Given the description of an element on the screen output the (x, y) to click on. 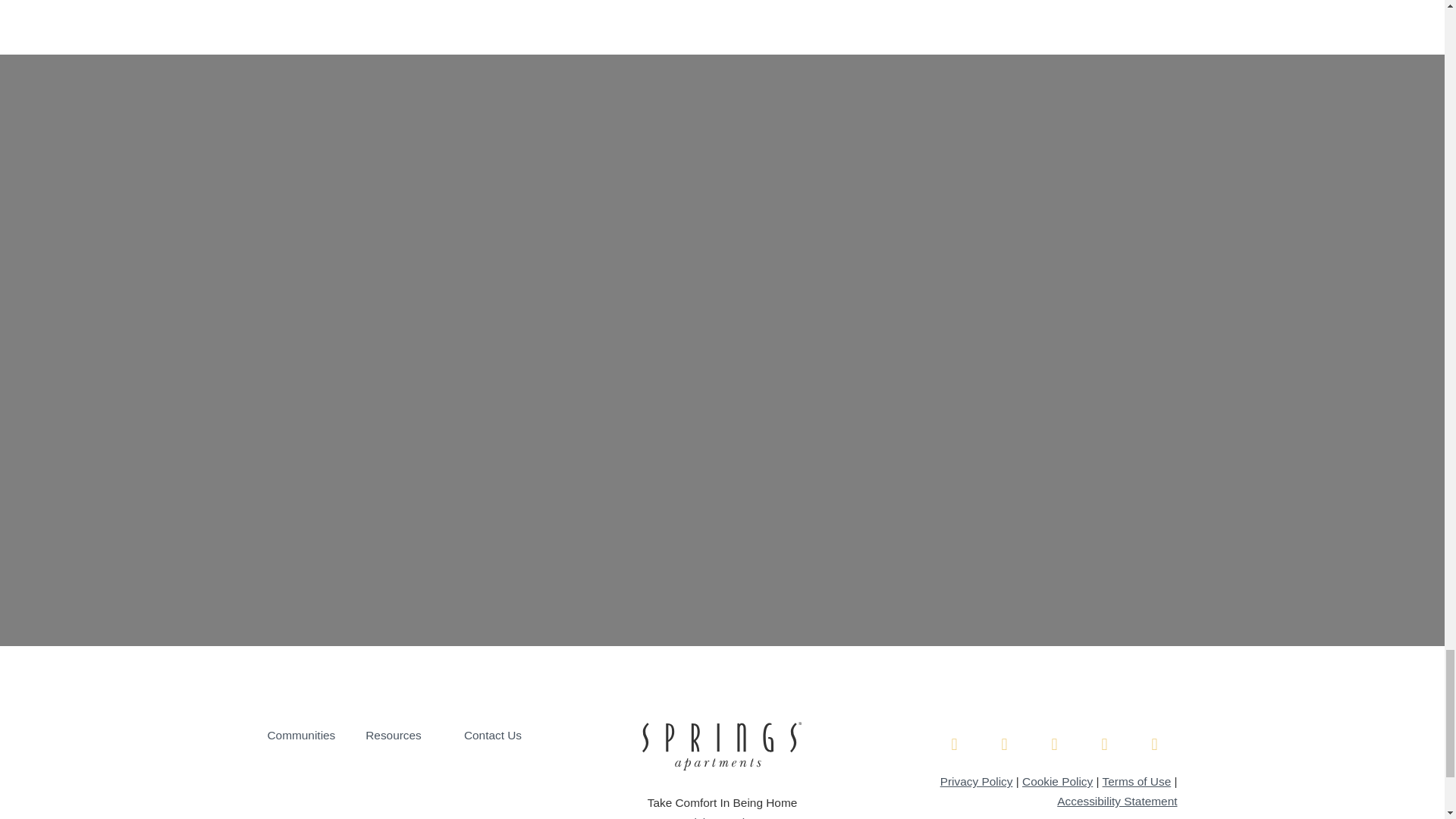
Resources (393, 735)
Visit Our Blog (722, 817)
Communities (300, 735)
Privacy Policy (976, 780)
Terms of Use (1137, 780)
Contact Us (492, 735)
Cookie Policy (1057, 780)
Accessibility Statement (1116, 800)
